Given the description of an element on the screen output the (x, y) to click on. 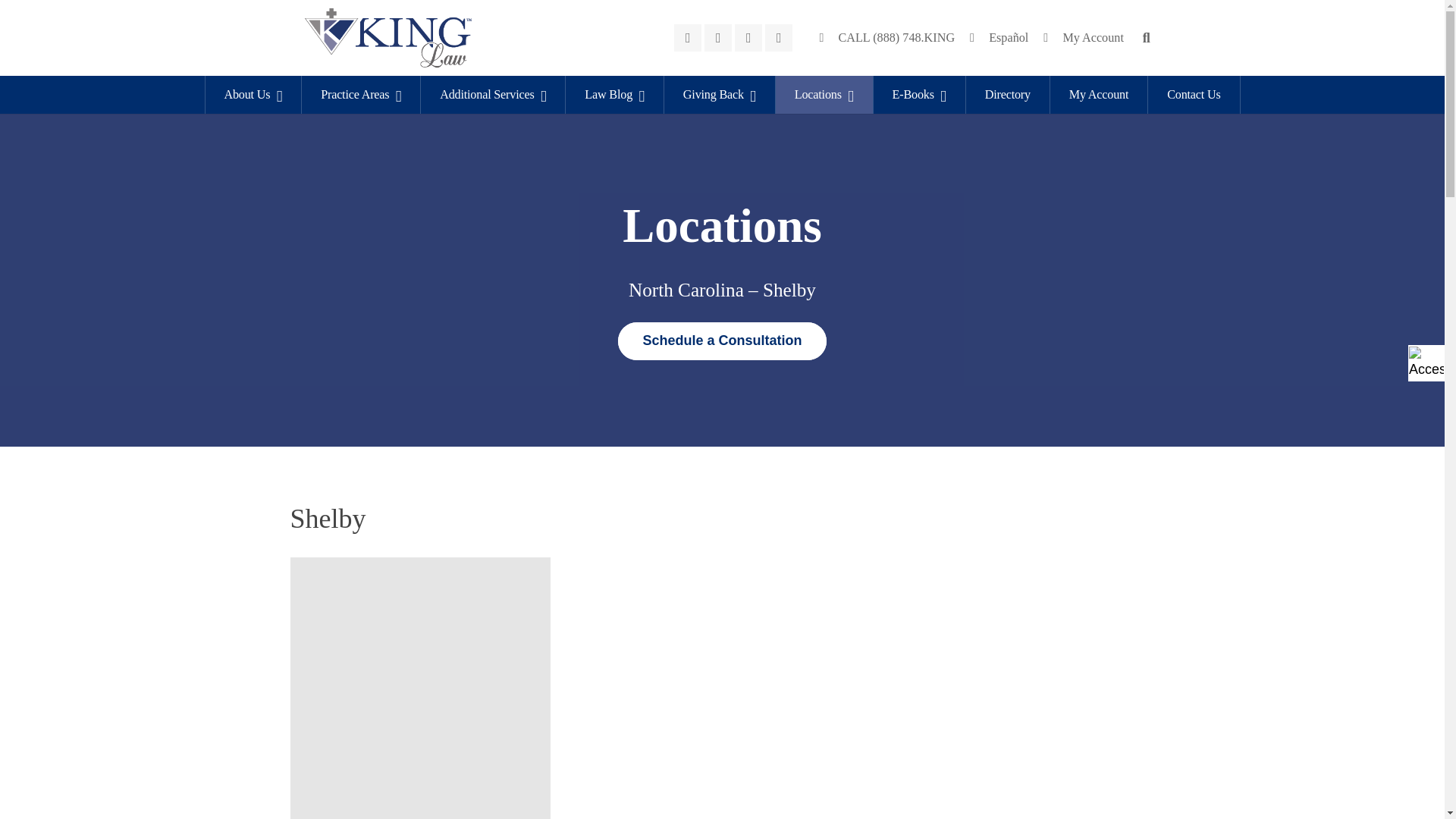
Additional Services (492, 94)
About Us (253, 94)
LinkedIn (748, 37)
Practice Areas (360, 94)
My Account (1083, 38)
Facebook (687, 37)
Twitter (718, 37)
YouTube (778, 37)
